Given the description of an element on the screen output the (x, y) to click on. 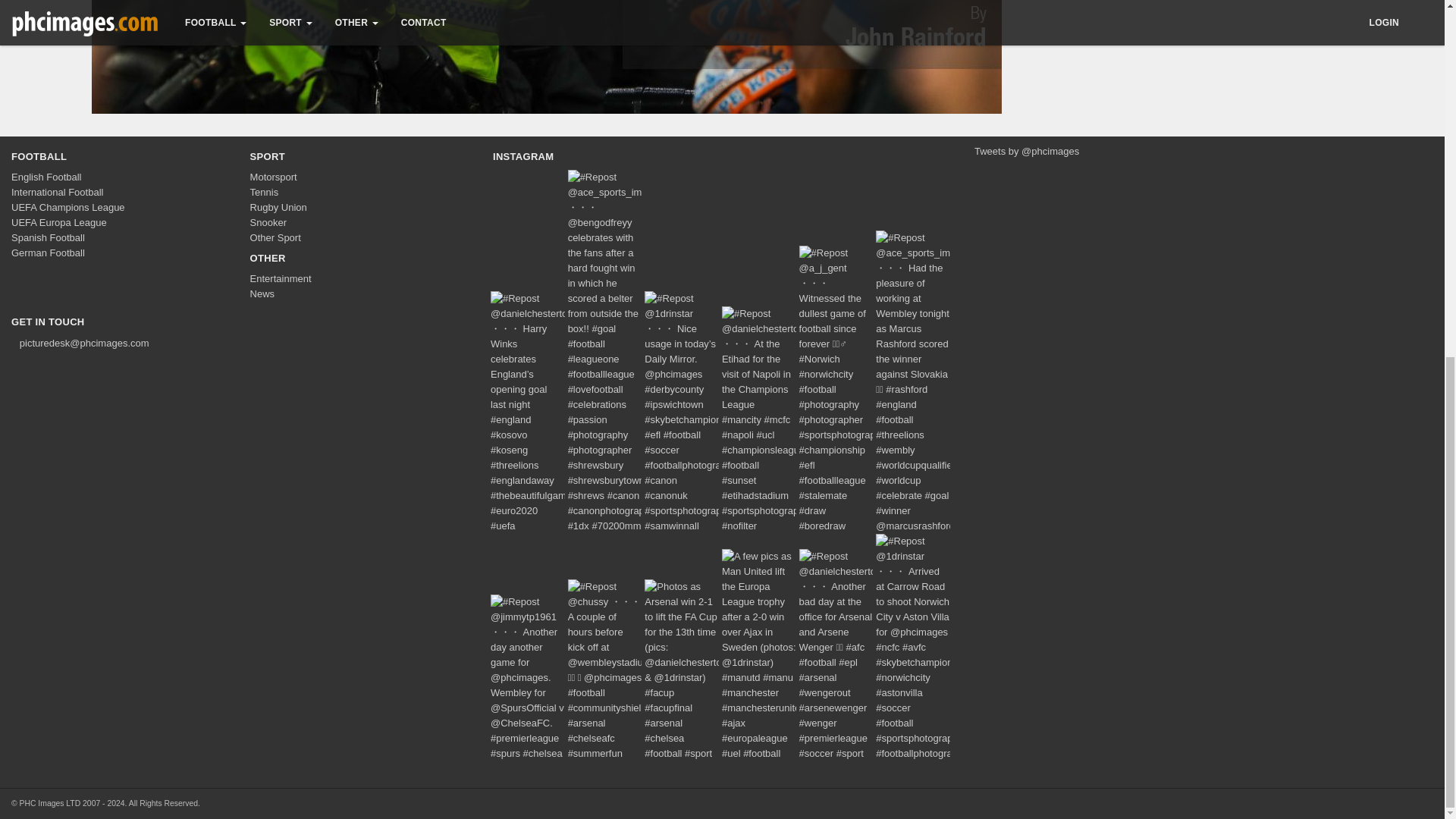
English Football (46, 176)
Rugby Union (278, 206)
Tennis (264, 192)
Spanish Football (47, 237)
Motorsport (273, 176)
SPORT (267, 156)
German Football (47, 252)
News (262, 293)
Other Sport (275, 237)
Snooker (268, 222)
GET IN TOUCH (47, 321)
UEFA Champions League (68, 206)
FOOTBALL (38, 156)
UEFA Europa League (58, 222)
Entertainment (280, 278)
